Given the description of an element on the screen output the (x, y) to click on. 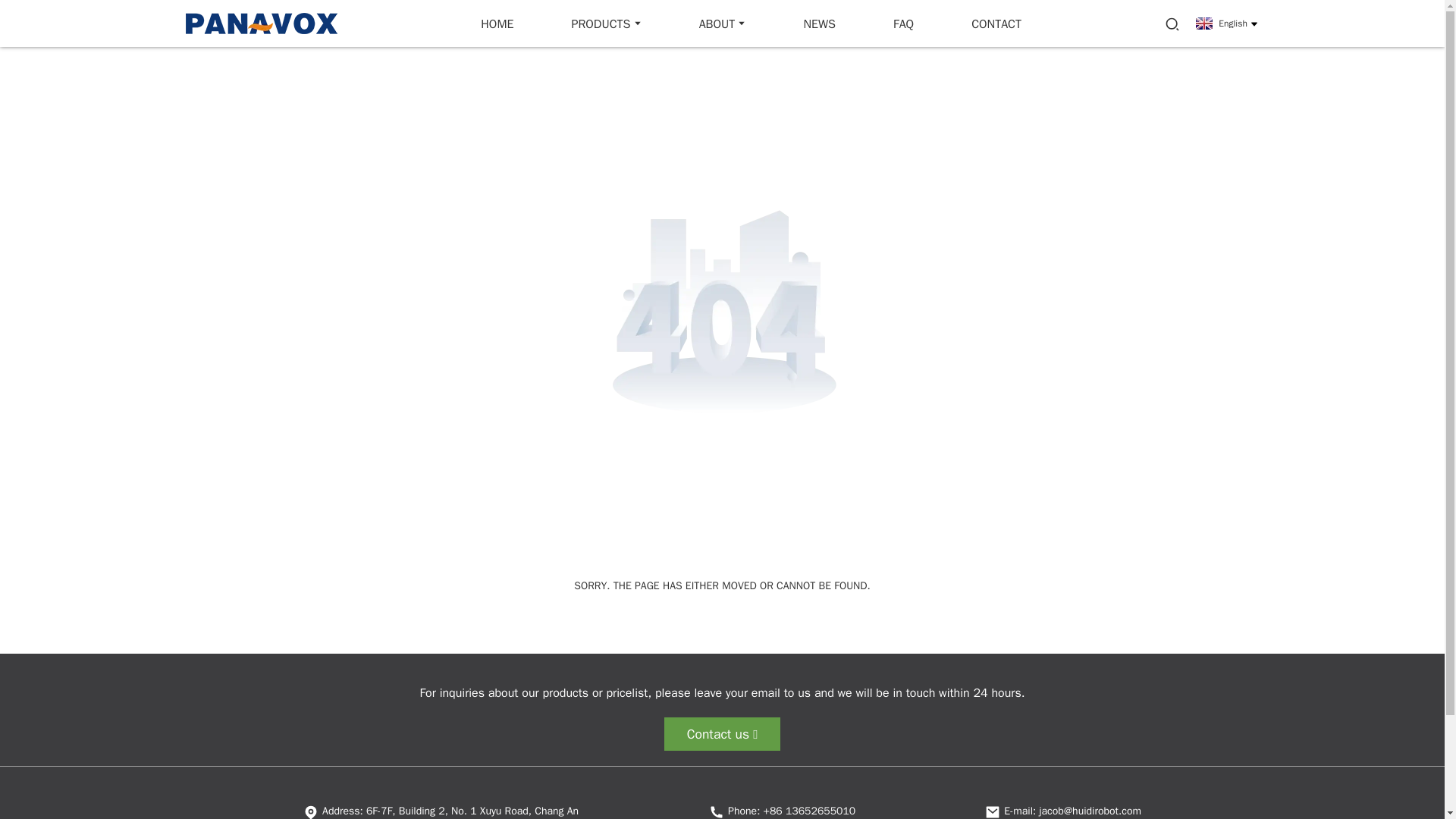
HOME (496, 23)
about (722, 23)
ABOUT (722, 23)
news (818, 23)
CONTACT (996, 23)
index (496, 23)
NEWS (818, 23)
PRODUCTS (605, 23)
products (605, 23)
